Given the description of an element on the screen output the (x, y) to click on. 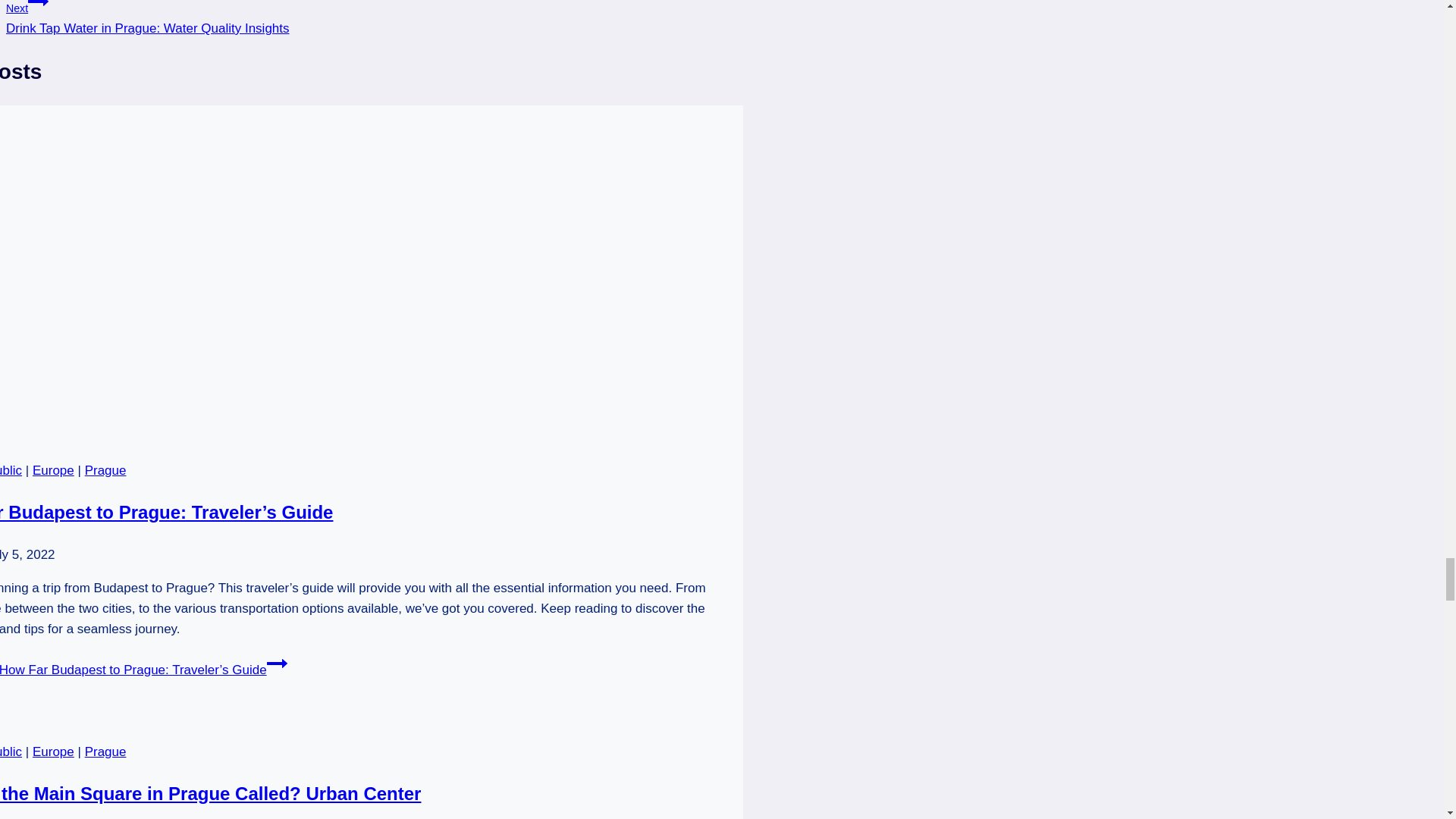
Czech Republic (10, 470)
Prague (105, 751)
What Is the Main Square in Prague Called? Urban Center (210, 792)
Czech Republic (10, 751)
Europe (53, 470)
Continue (37, 6)
Prague (105, 470)
Europe (53, 751)
Continue (276, 663)
